Given the description of an element on the screen output the (x, y) to click on. 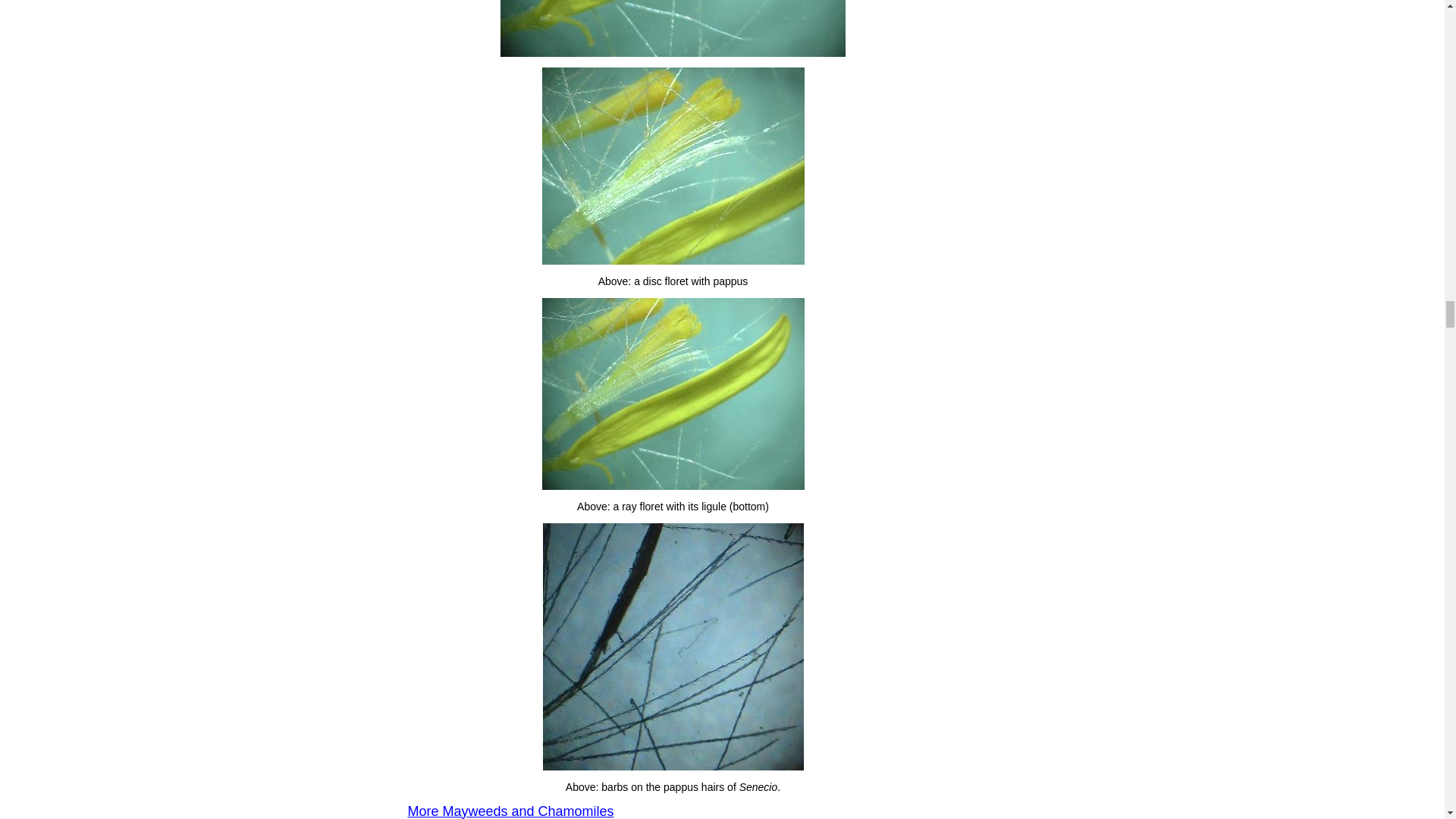
More Mayweeds and Chamomiles (510, 811)
